Given the description of an element on the screen output the (x, y) to click on. 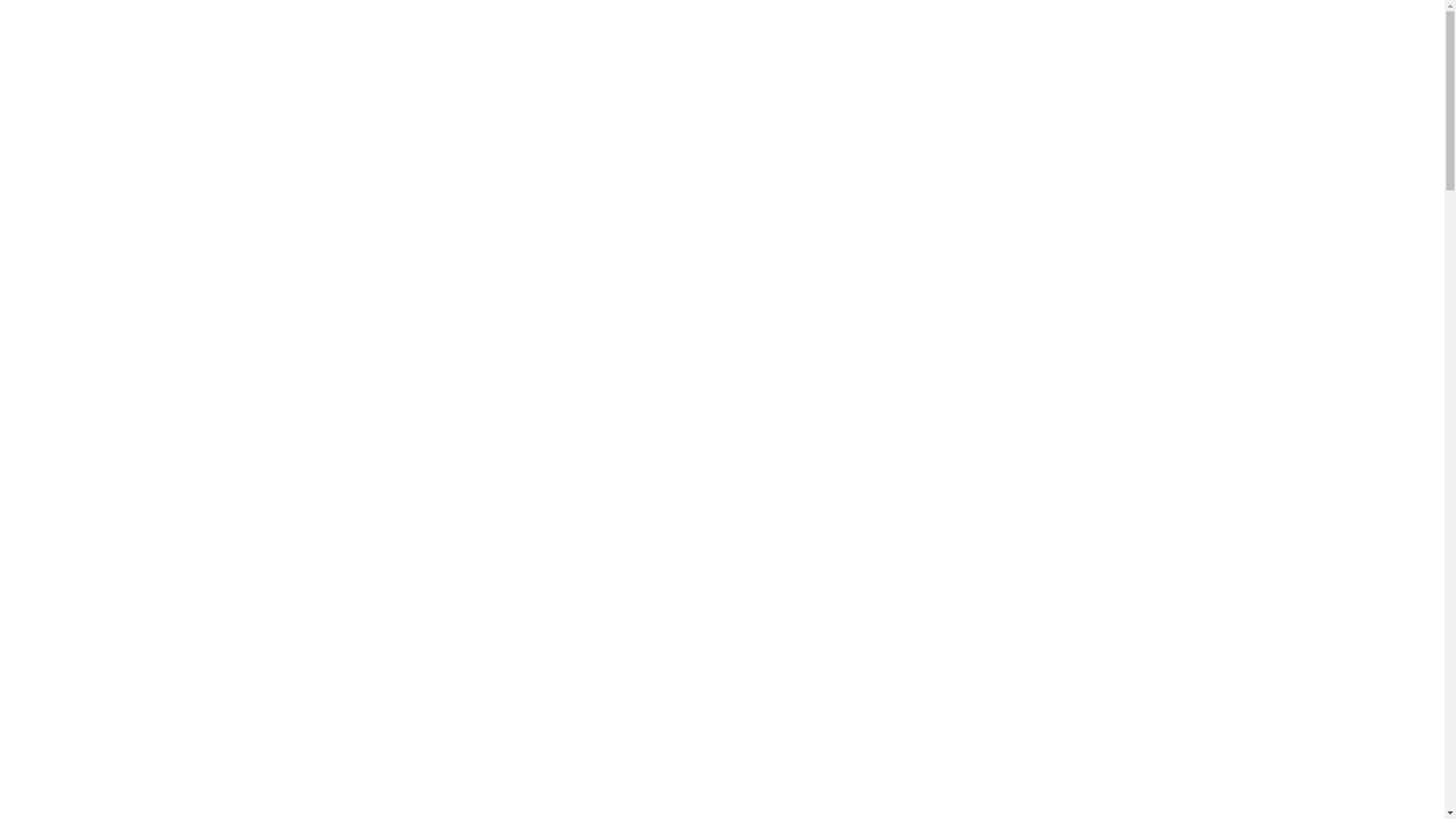
Envoyer Element type: text (1096, 219)
